Given the description of an element on the screen output the (x, y) to click on. 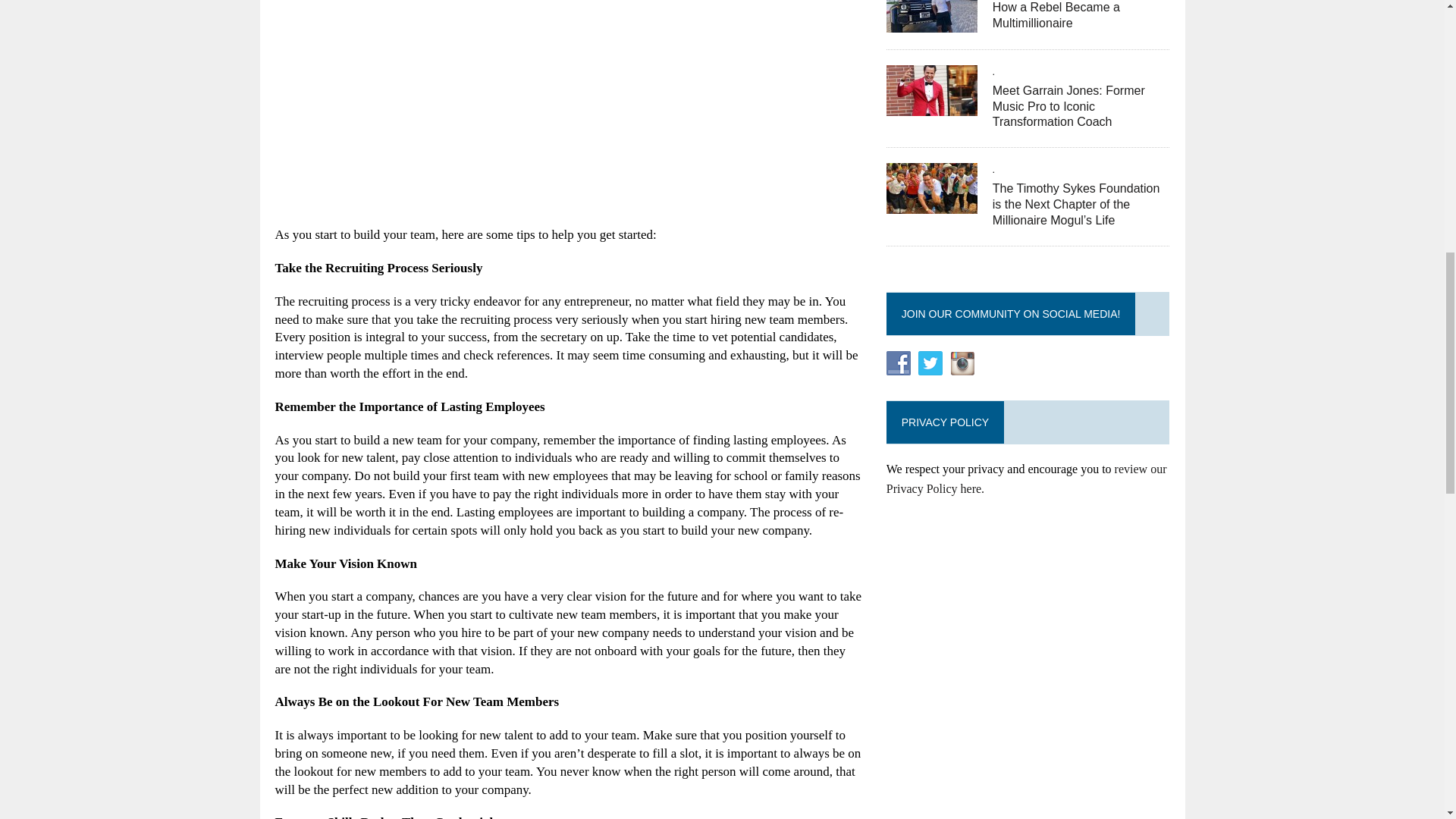
Advertisement (569, 119)
